Given the description of an element on the screen output the (x, y) to click on. 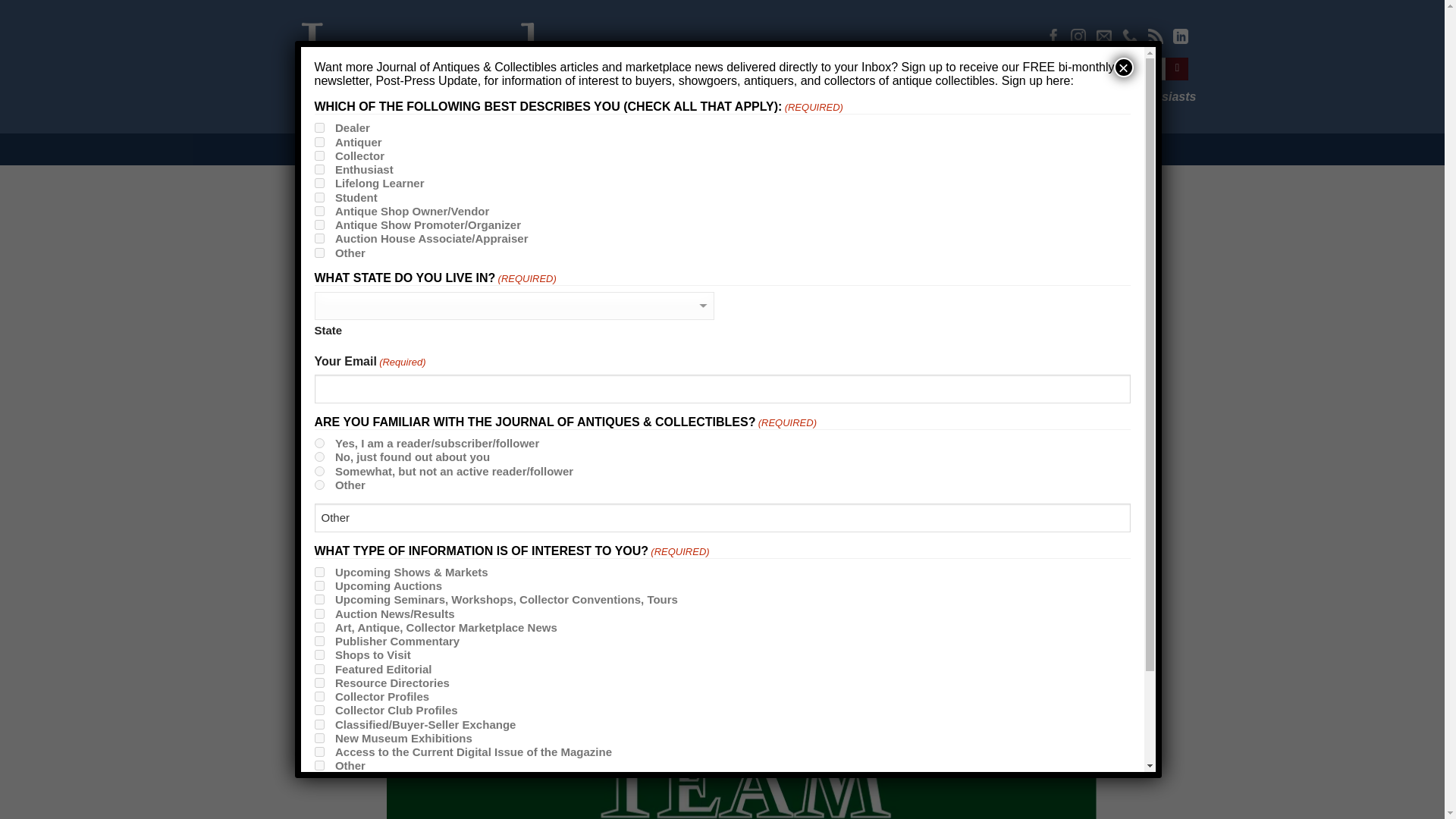
Collector (318, 155)
Home (485, 149)
Subscribe (960, 68)
Dealer (318, 127)
Subscribe (957, 67)
Other (721, 517)
Upcoming Seminars, Workshops, Collector Conventions, Tours (318, 599)
Lifelong Learner (318, 183)
Student (318, 197)
Journal of Antiques (586, 149)
Enthusiast (318, 169)
Advertise (1030, 68)
Antiquer (318, 142)
Other (318, 252)
Upcoming Auctions (318, 585)
